Given the description of an element on the screen output the (x, y) to click on. 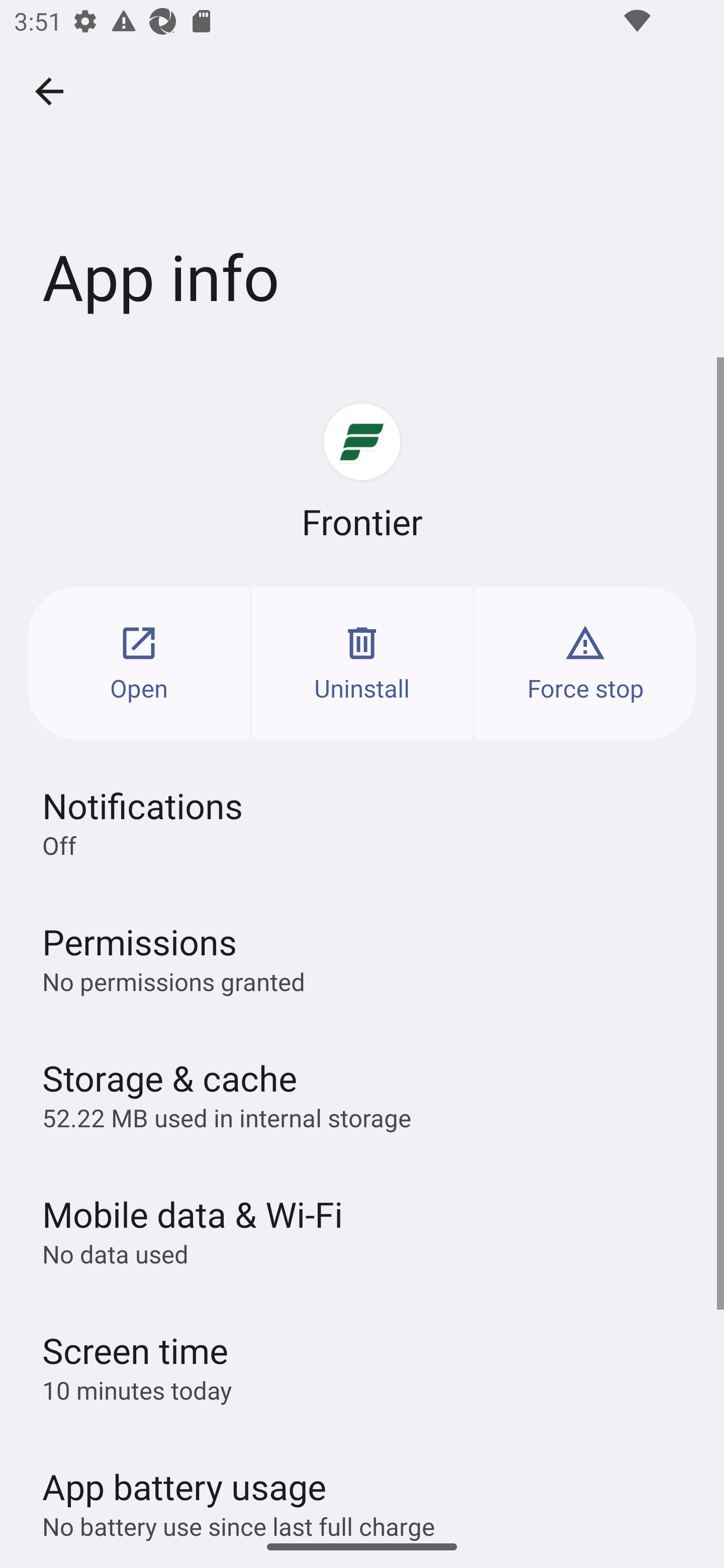
Navigate up (49, 91)
Open (138, 663)
Uninstall (361, 663)
Force stop (584, 663)
Notifications Off (362, 822)
Permissions No permissions granted (362, 957)
Storage & cache 52.22 MB used in internal storage (362, 1093)
Mobile data & Wi‑Fi No data used (362, 1229)
Screen time 10 minutes today (362, 1366)
